Given the description of an element on the screen output the (x, y) to click on. 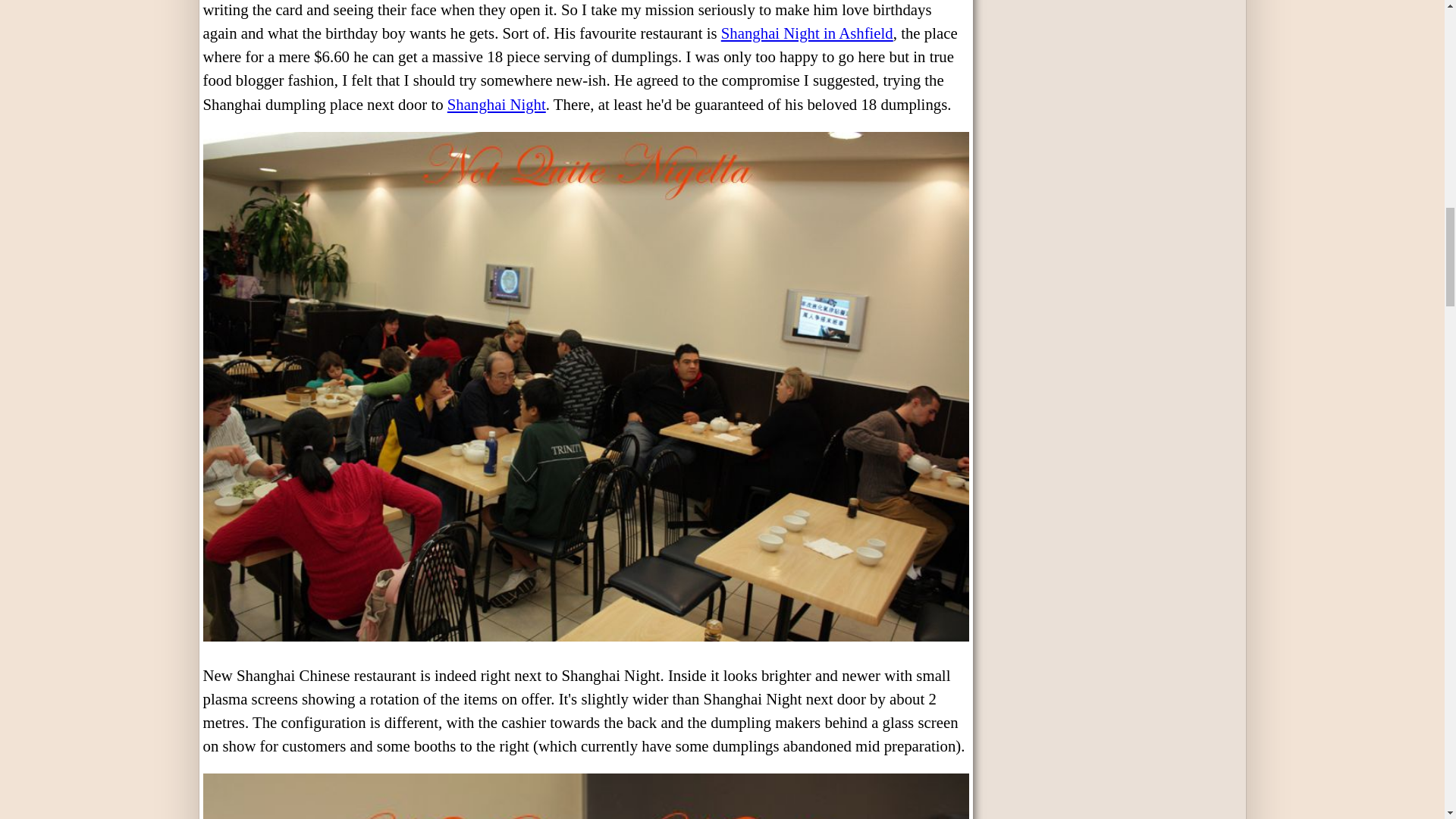
Shanghai Night (496, 104)
Shanghai Night in Ashfield (806, 32)
